Given the description of an element on the screen output the (x, y) to click on. 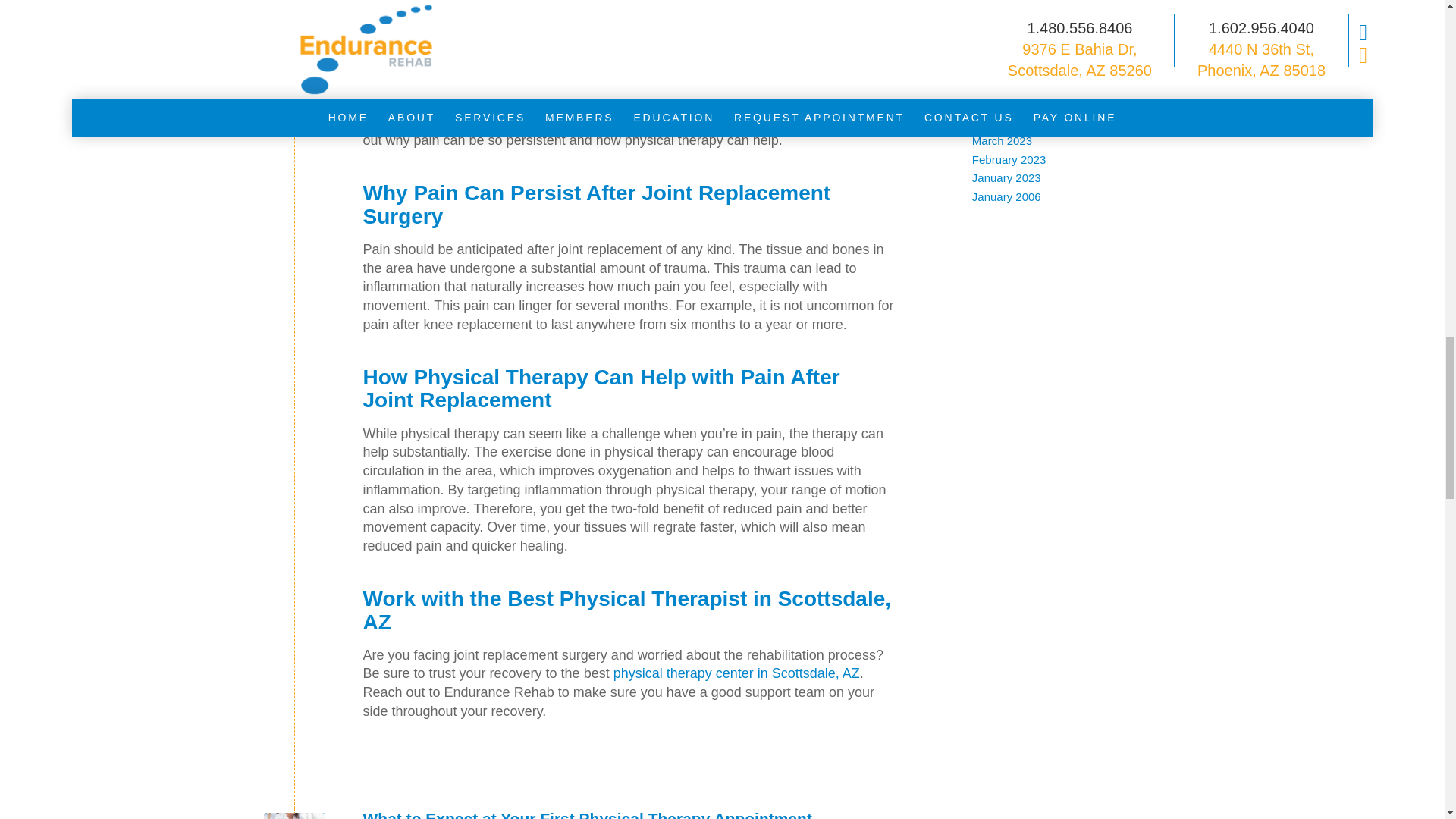
What to Expect at Your First Physical Therapy Appointment (293, 816)
Posts by Endurance Rehabilitation (676, 28)
Understanding Long-Term Pain After Joint Replacement (293, 32)
